Given the description of an element on the screen output the (x, y) to click on. 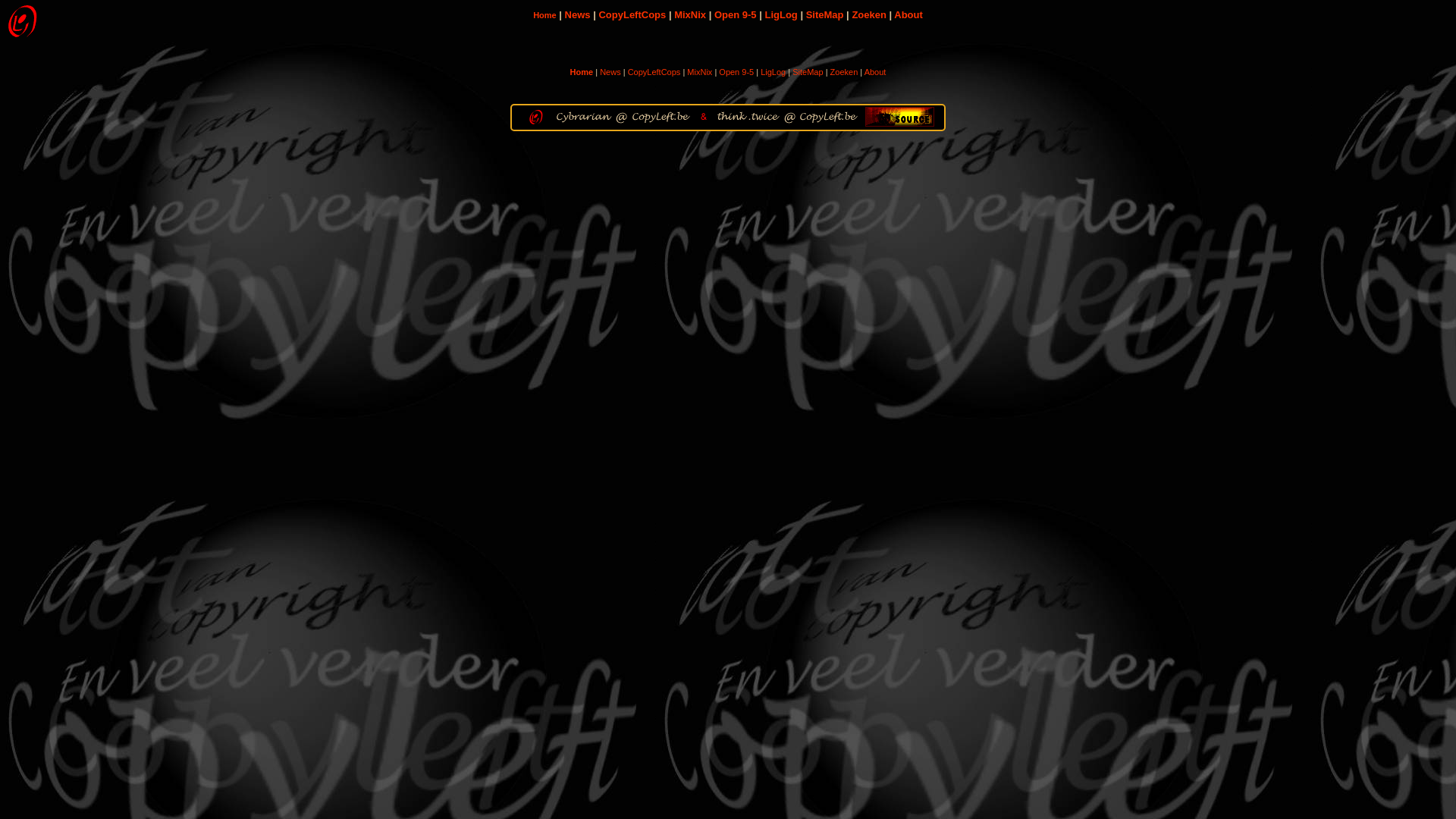
MixNix Element type: text (699, 71)
News Element type: text (577, 14)
Cybrarian Element type: hover (582, 116)
Think Twice Element type: hover (747, 116)
Wat is copyleft? Element type: hover (829, 116)
Wat is copyleft? Element type: hover (662, 116)
LigLog Element type: text (772, 71)
Zoeken Element type: text (844, 71)
SiteMap Element type: text (825, 14)
About Element type: text (908, 14)
About Element type: text (875, 71)
CopyLeftCops Element type: text (653, 71)
Open 9-5 Element type: text (735, 71)
Open 9-5 Element type: text (735, 14)
Home Element type: text (581, 71)
CopyLeftCops Element type: text (631, 14)
Zoeken Element type: text (868, 14)
CopyLeft Element type: hover (22, 22)
LigLog Element type: text (780, 14)
News Element type: text (610, 71)
CopyLeft by Element type: hover (536, 116)
Over de Broncode Element type: hover (899, 115)
MixNix Element type: text (690, 14)
Home Element type: text (544, 14)
SiteMap Element type: text (807, 71)
